Given the description of an element on the screen output the (x, y) to click on. 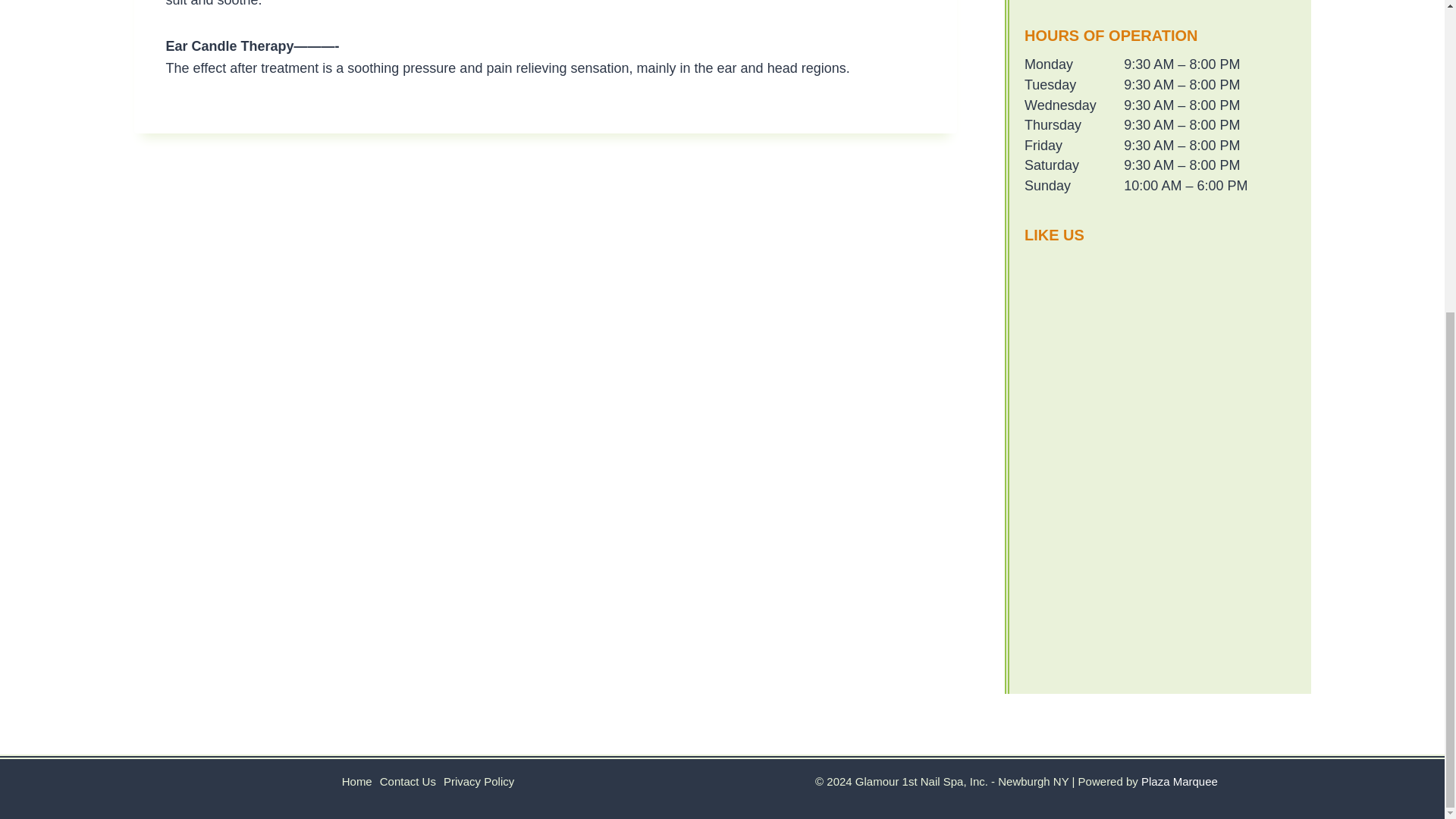
Plaza Marquee (1179, 780)
Privacy Policy (478, 781)
Home (356, 781)
Contact Us (407, 781)
